Given the description of an element on the screen output the (x, y) to click on. 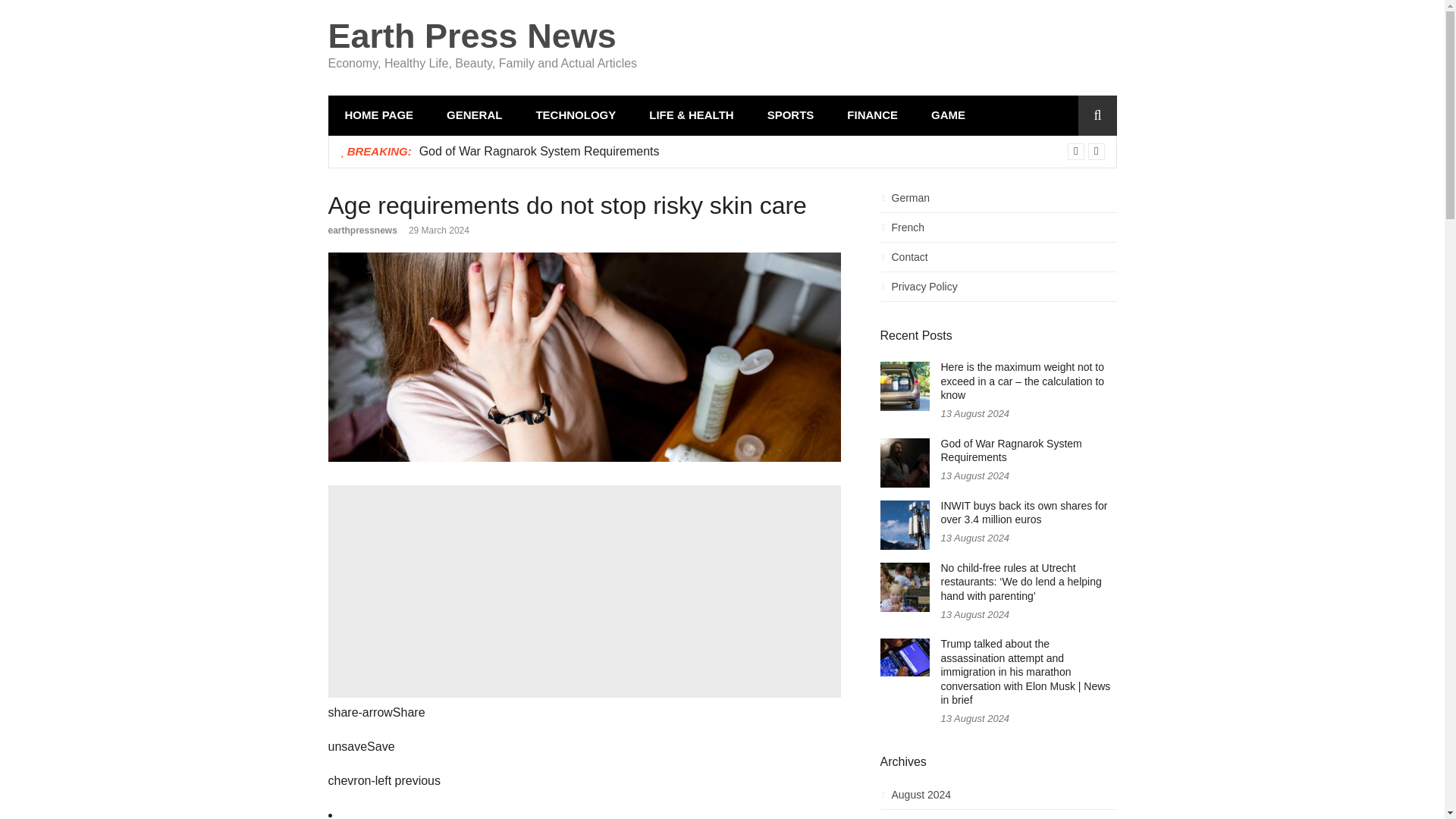
FINANCE (871, 115)
GAME (947, 115)
SPORTS (791, 115)
Privacy Policy (997, 291)
Earth Press News (471, 35)
Contact (997, 260)
GENERAL (473, 115)
God of War Ragnarok System Requirements (539, 150)
HOME PAGE (378, 115)
German (997, 201)
